Given the description of an element on the screen output the (x, y) to click on. 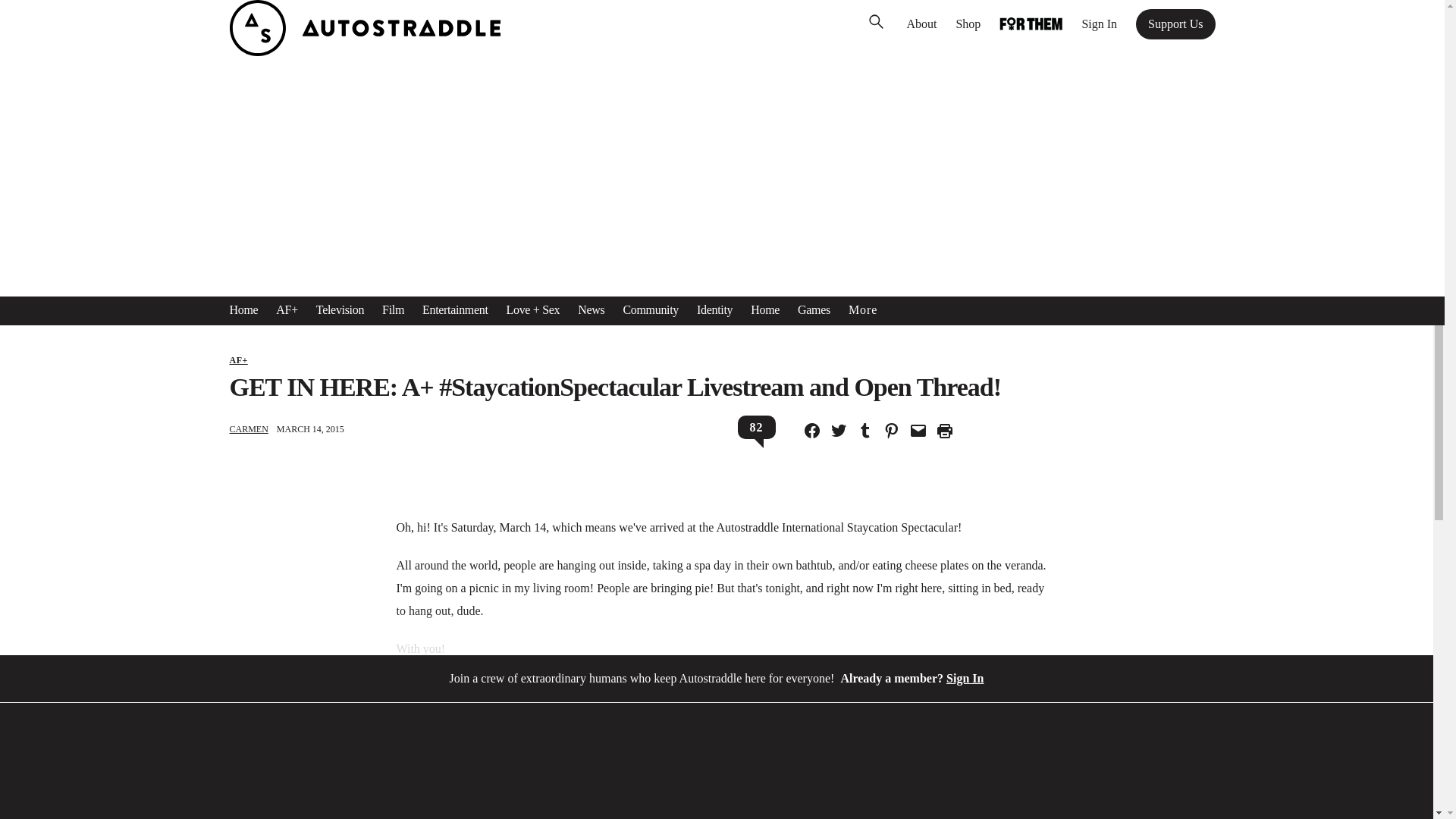
Search (34, 15)
Home (242, 310)
Autostraddle (363, 51)
Shop (967, 24)
Posts by Carmen (247, 429)
Sign In (1098, 24)
Television (339, 310)
